Given the description of an element on the screen output the (x, y) to click on. 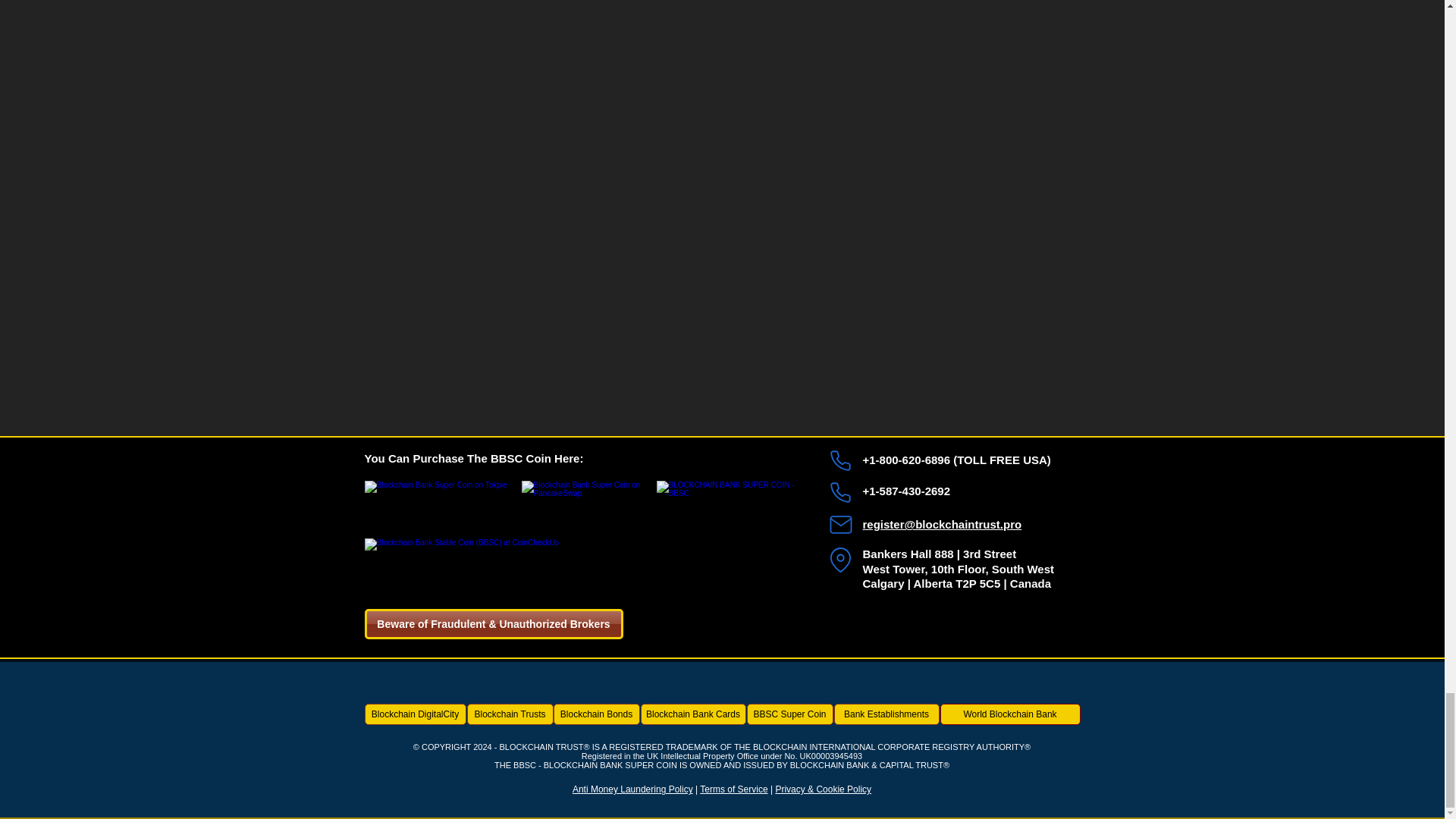
Blockchain Bank Super Coin on PancakeSwap (587, 497)
Blockchain Bank Super Coin on Tokpie (438, 497)
BLOCKCHAIN BANK SUPER COIN - BBSC (727, 551)
